Given the description of an element on the screen output the (x, y) to click on. 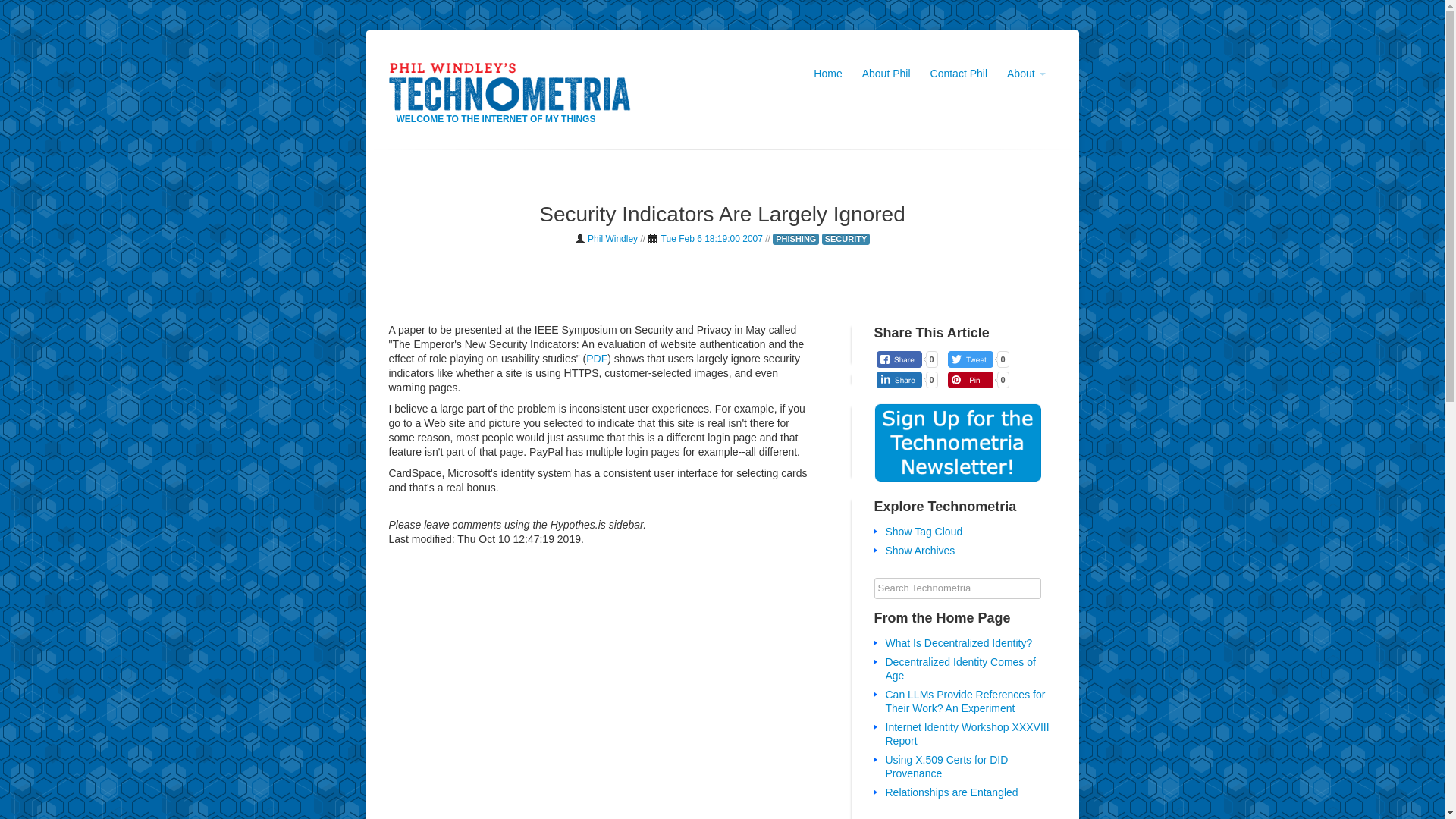
About Phil (886, 73)
PDF (596, 358)
Contact Phil (958, 73)
Phil Windley (612, 238)
SECURITY (846, 238)
Home (827, 73)
Tue Feb 6 18:19:00 2007 (711, 238)
PHISHING (795, 238)
Show Archives (920, 550)
Show Tag Cloud (923, 531)
